Given the description of an element on the screen output the (x, y) to click on. 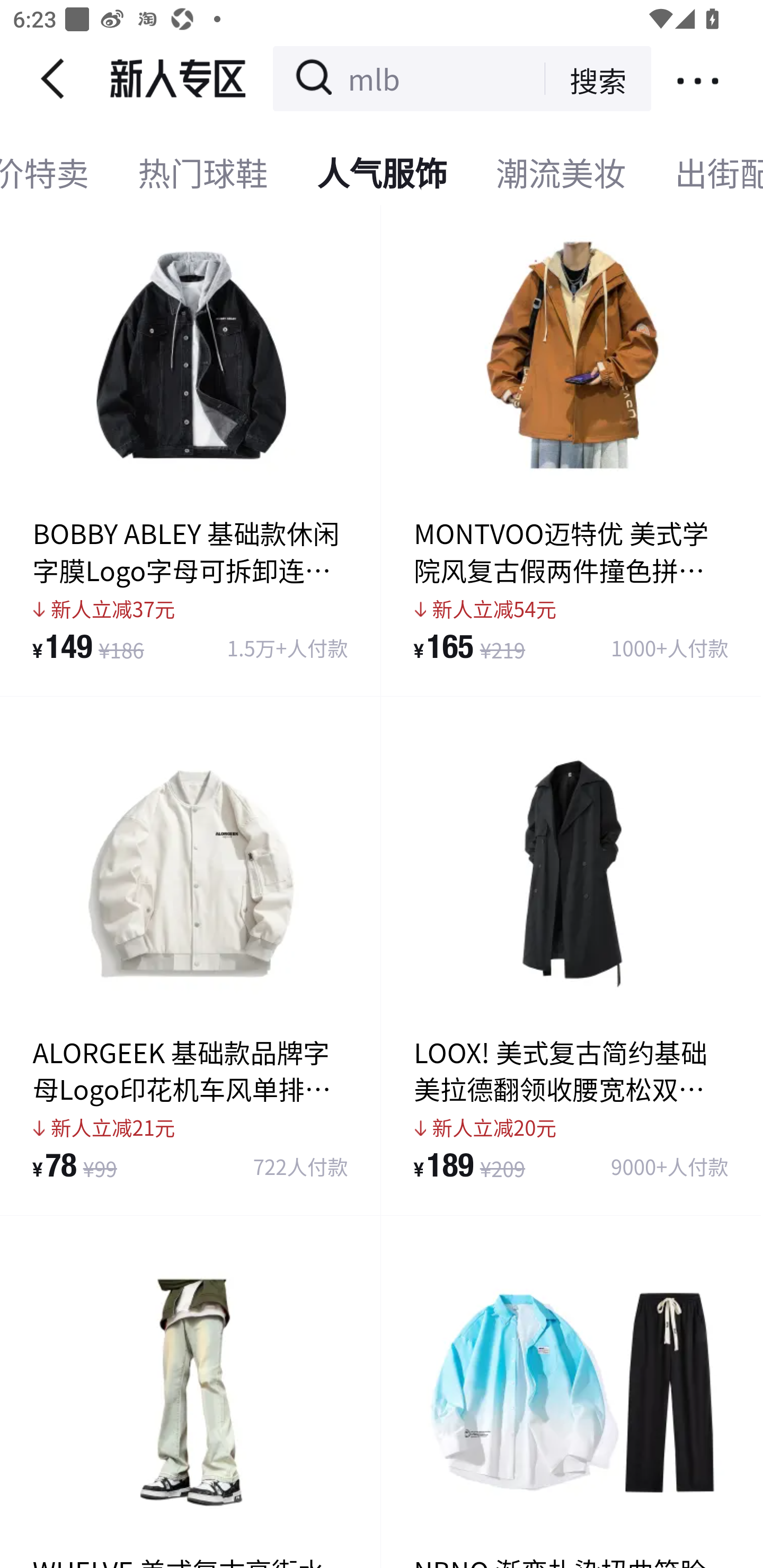
卡西欧 mlb (402, 78)
搜索 (585, 78)
